Given the description of an element on the screen output the (x, y) to click on. 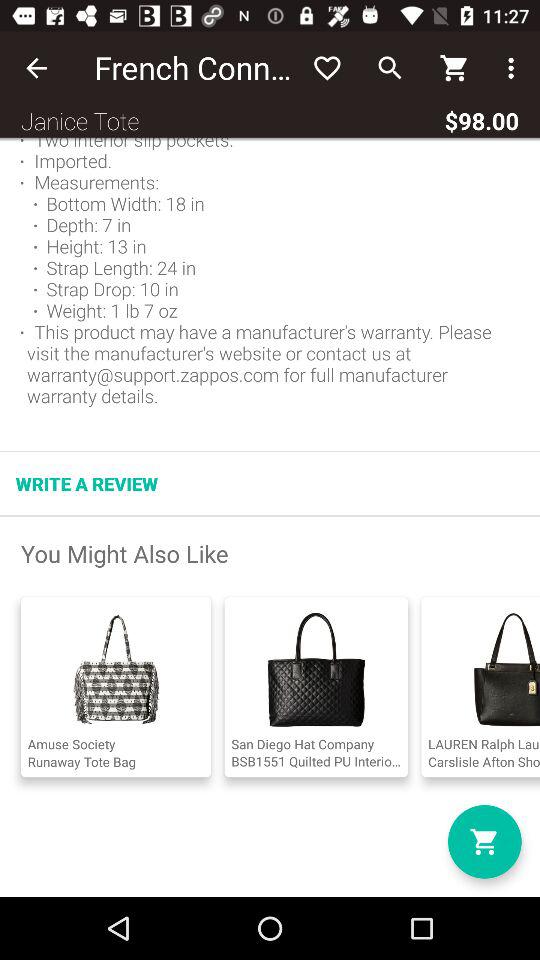
press icon next to french connection (36, 68)
